Given the description of an element on the screen output the (x, y) to click on. 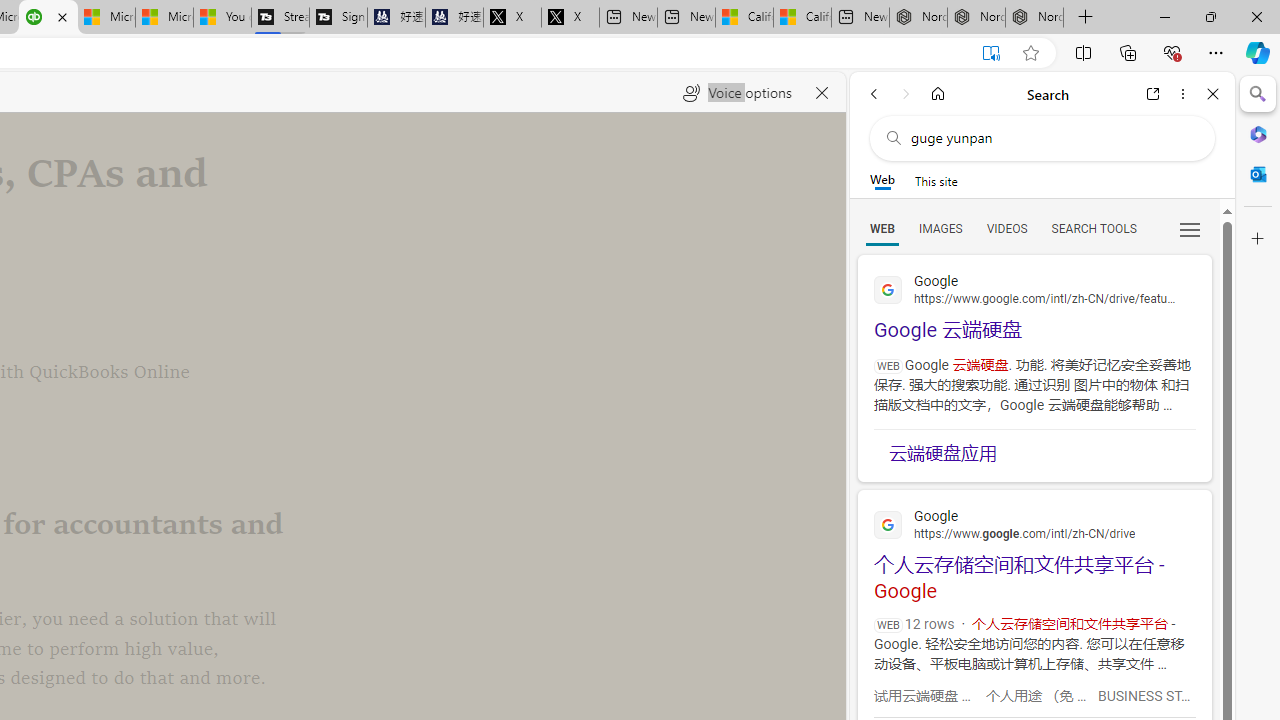
Preferences (1189, 228)
Customize (1258, 239)
Exit Immersive Reader (F9) (991, 53)
Voice options (737, 92)
WEB   (882, 228)
